Given the description of an element on the screen output the (x, y) to click on. 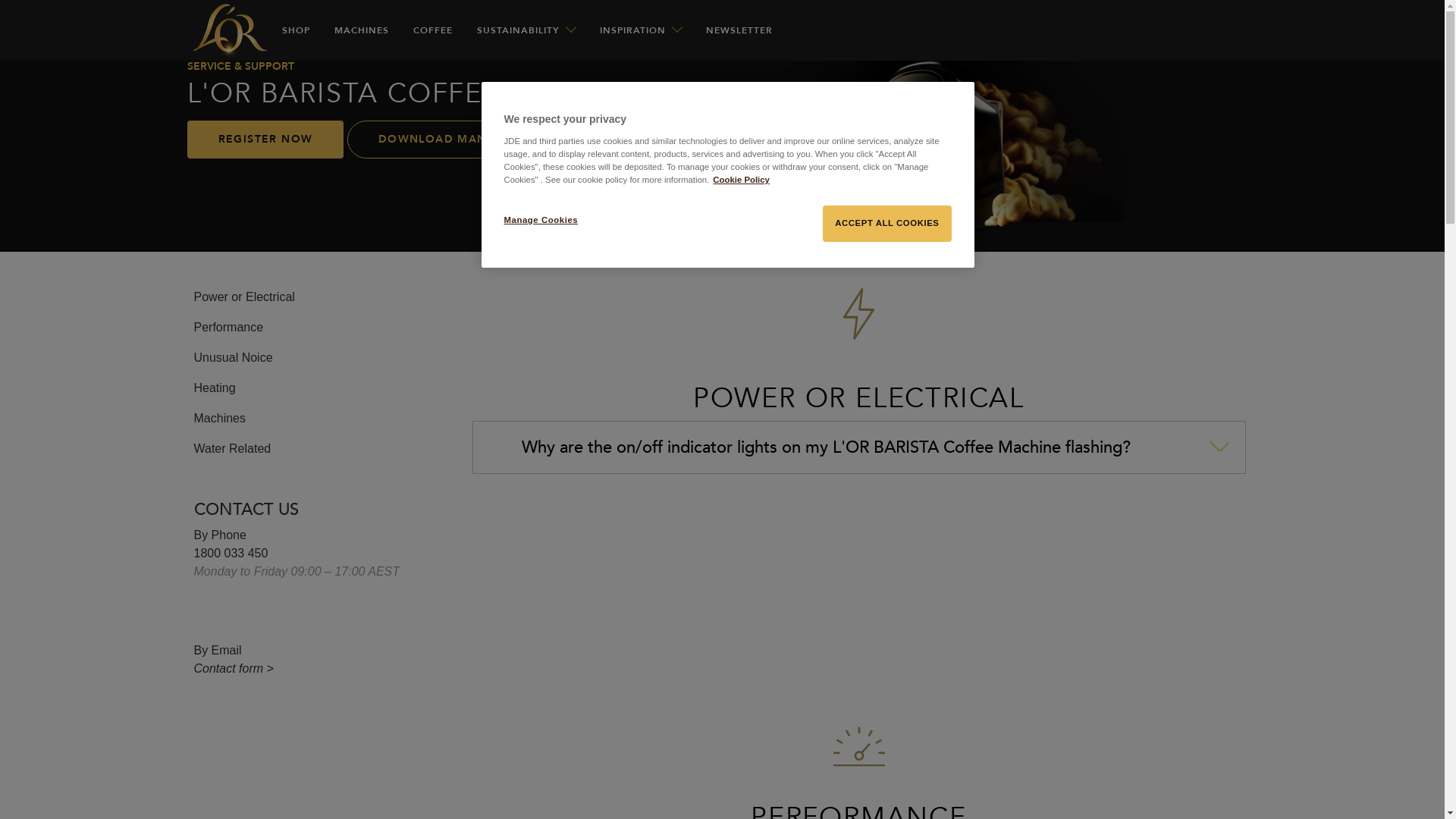
SUSTAINABILITY Element type: text (521, 30)
INSPIRATION Element type: text (635, 30)
SHOP Element type: text (296, 30)
Contact form > Element type: text (233, 668)
MACHINES Element type: text (360, 30)
Cookie Policy Element type: text (740, 179)
Machines Element type: text (219, 417)
Performance Element type: text (228, 326)
Heating Element type: text (214, 387)
REGISTER NOW Element type: text (264, 139)
Manage Cookies Element type: text (554, 220)
DOWNLOAD MANUAL Element type: text (444, 139)
Power or Electrical Element type: text (244, 296)
ACCEPT ALL COOKIES Element type: text (886, 223)
COFFEE Element type: text (431, 30)
NEWSLETTER Element type: text (738, 30)
Unusual Noice Element type: text (233, 357)
Water Related Element type: text (232, 448)
